Given the description of an element on the screen output the (x, y) to click on. 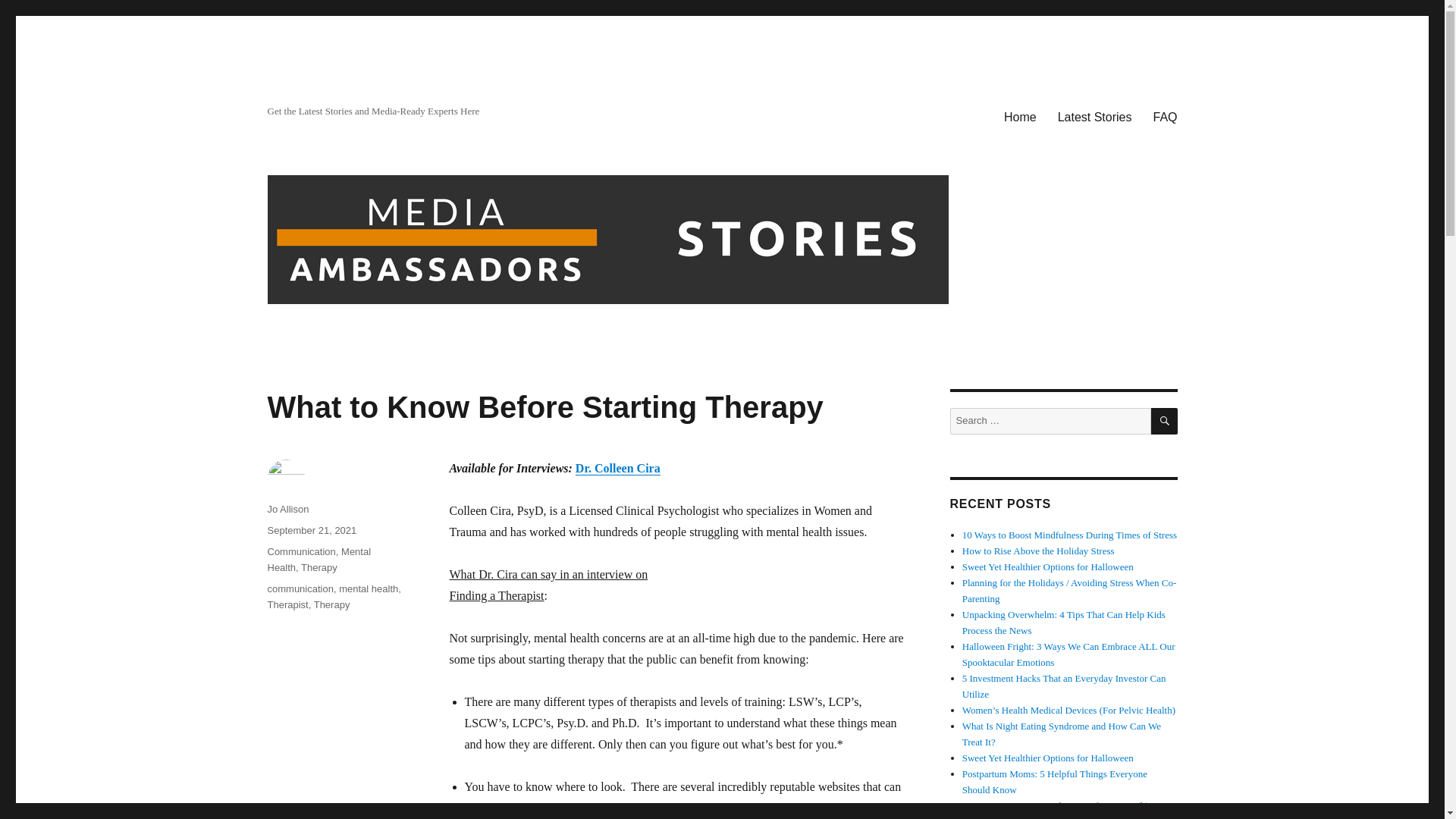
Therapy (319, 567)
Sweet Yet Healthier Options for Halloween (1048, 566)
Jo Allison (287, 509)
What Is Night Eating Syndrome and How Can We Treat It? (1061, 733)
10 Ways to Boost Mindfulness During Times of Stress (1069, 534)
SEARCH (1164, 420)
FAQ (1164, 116)
Therapist (286, 604)
Communication (300, 551)
